Given the description of an element on the screen output the (x, y) to click on. 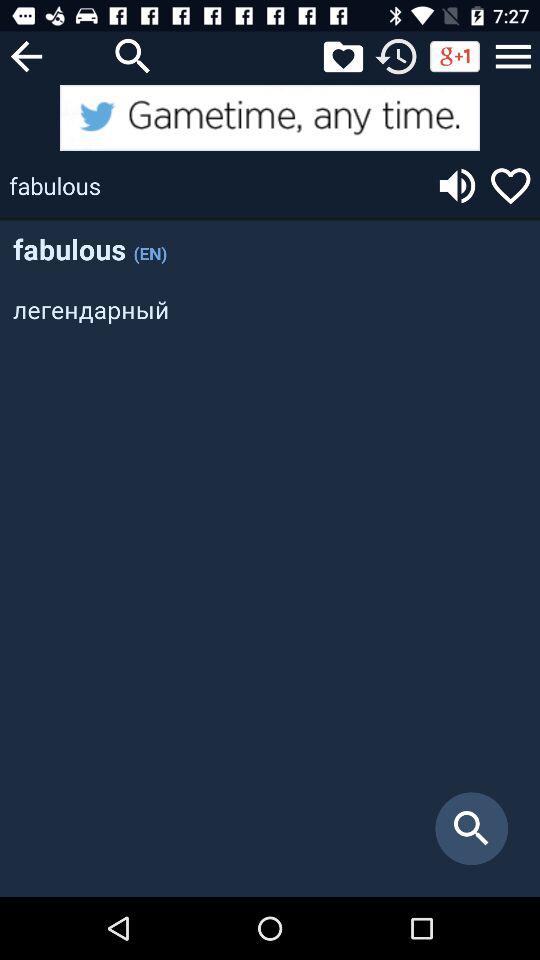
search option (133, 56)
